Given the description of an element on the screen output the (x, y) to click on. 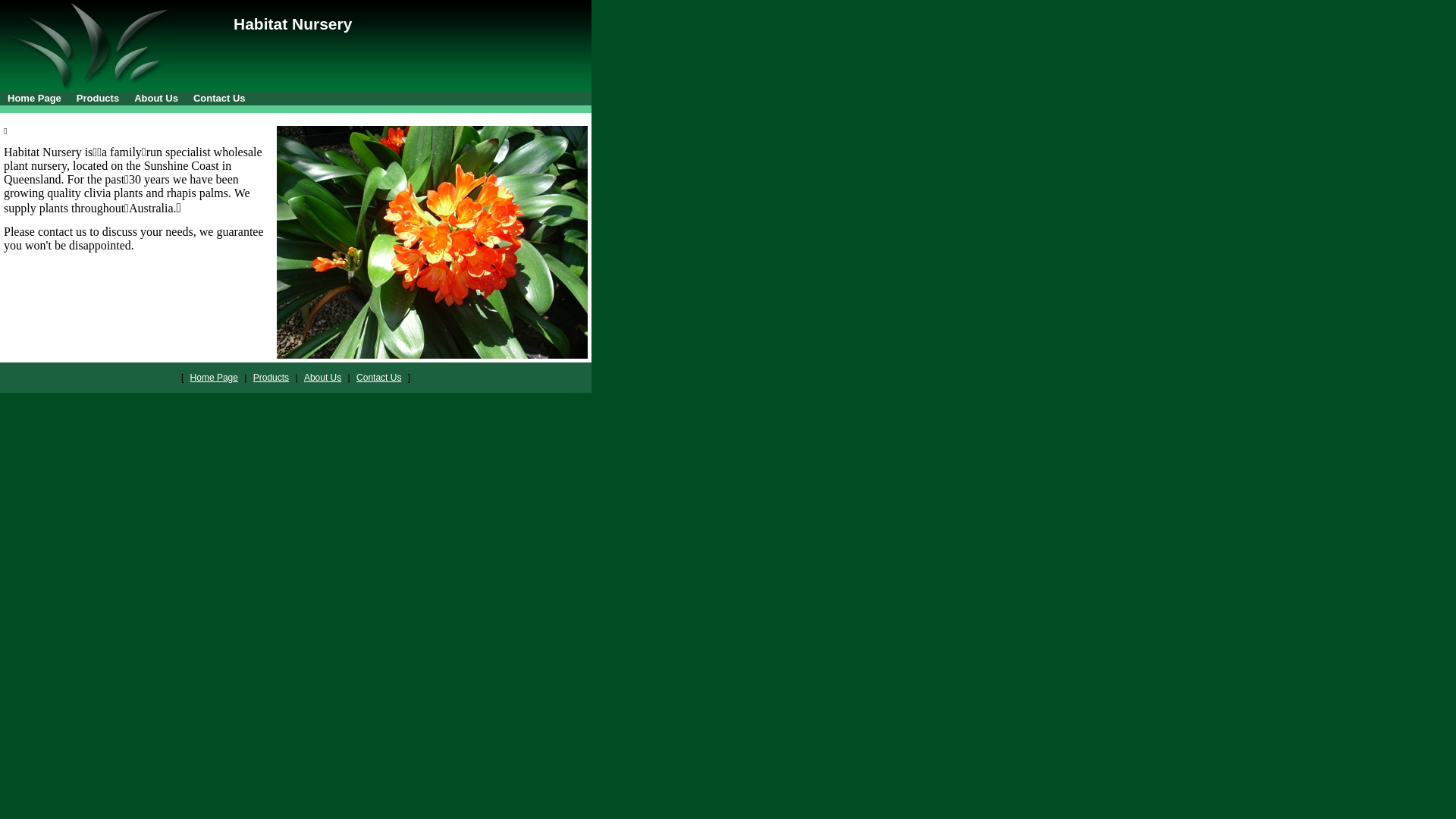
Contact Us Element type: text (378, 377)
Products Element type: text (270, 377)
About Us Element type: text (322, 377)
Contact Us Element type: text (219, 97)
Home Page Element type: text (213, 377)
Products Element type: text (97, 97)
About Us Element type: text (156, 97)
orange_clivia_flower-_single.jpg Element type: hover (431, 241)
Home Page Element type: text (34, 97)
